Given the description of an element on the screen output the (x, y) to click on. 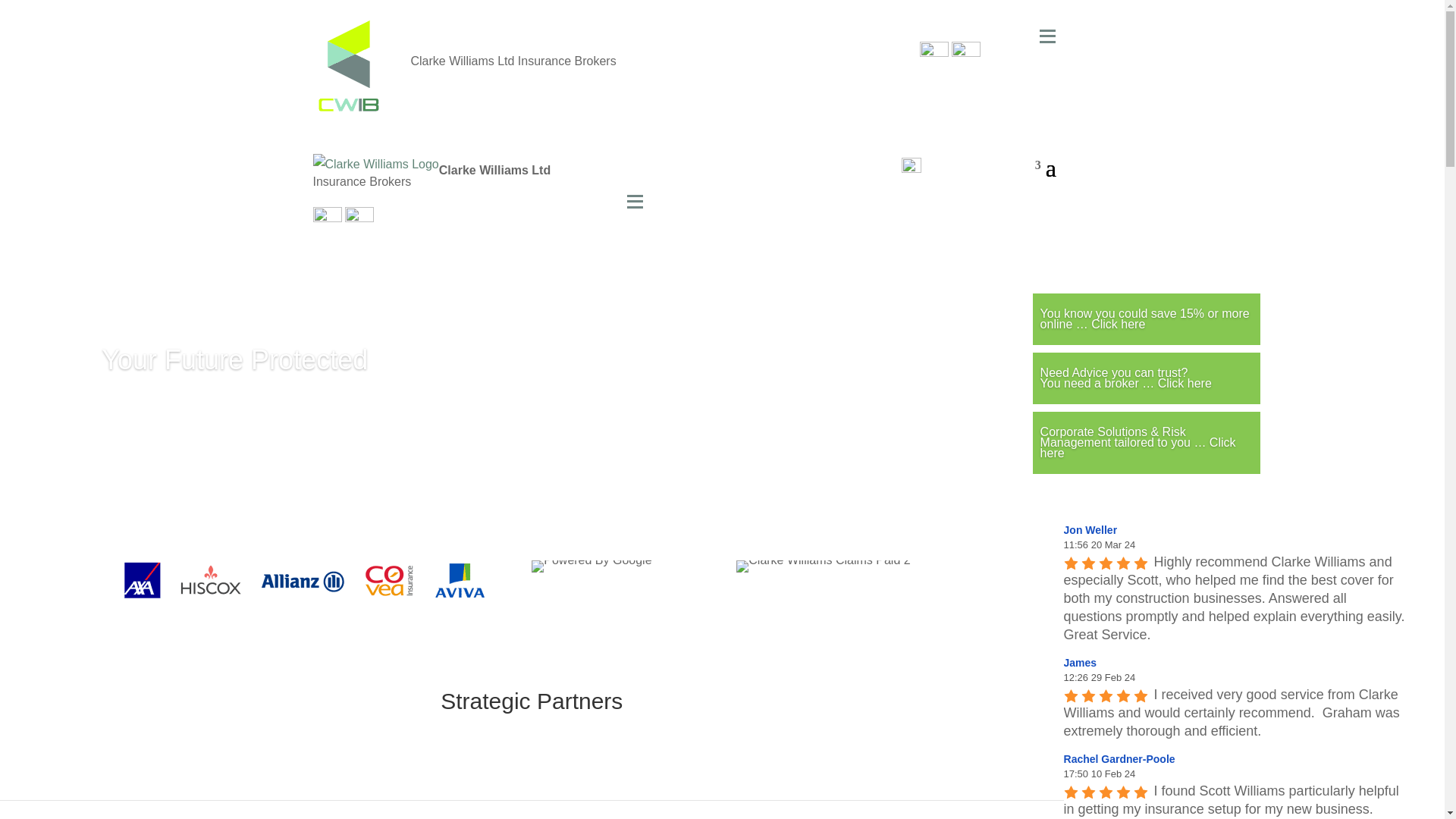
Powered By Google (590, 566)
CWIB Insurer Logos (304, 580)
Clarke Williams Claims Paid 2 (823, 566)
CLOSE (1015, 168)
